Given the description of an element on the screen output the (x, y) to click on. 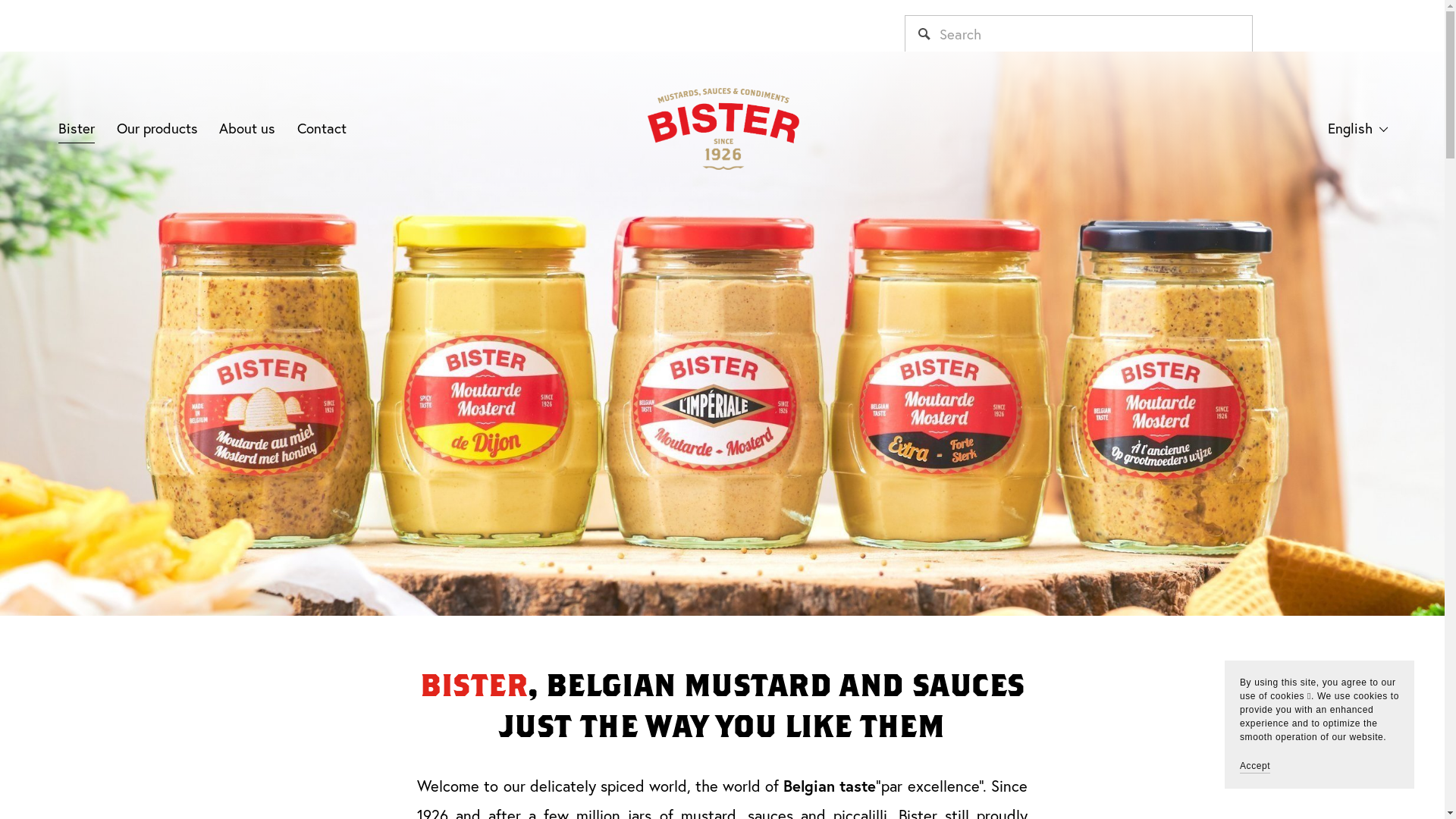
Accept Element type: text (1254, 766)
Contact Element type: text (321, 128)
Our products Element type: text (156, 128)
Bister Element type: text (76, 128)
About us Element type: text (247, 128)
